Given the description of an element on the screen output the (x, y) to click on. 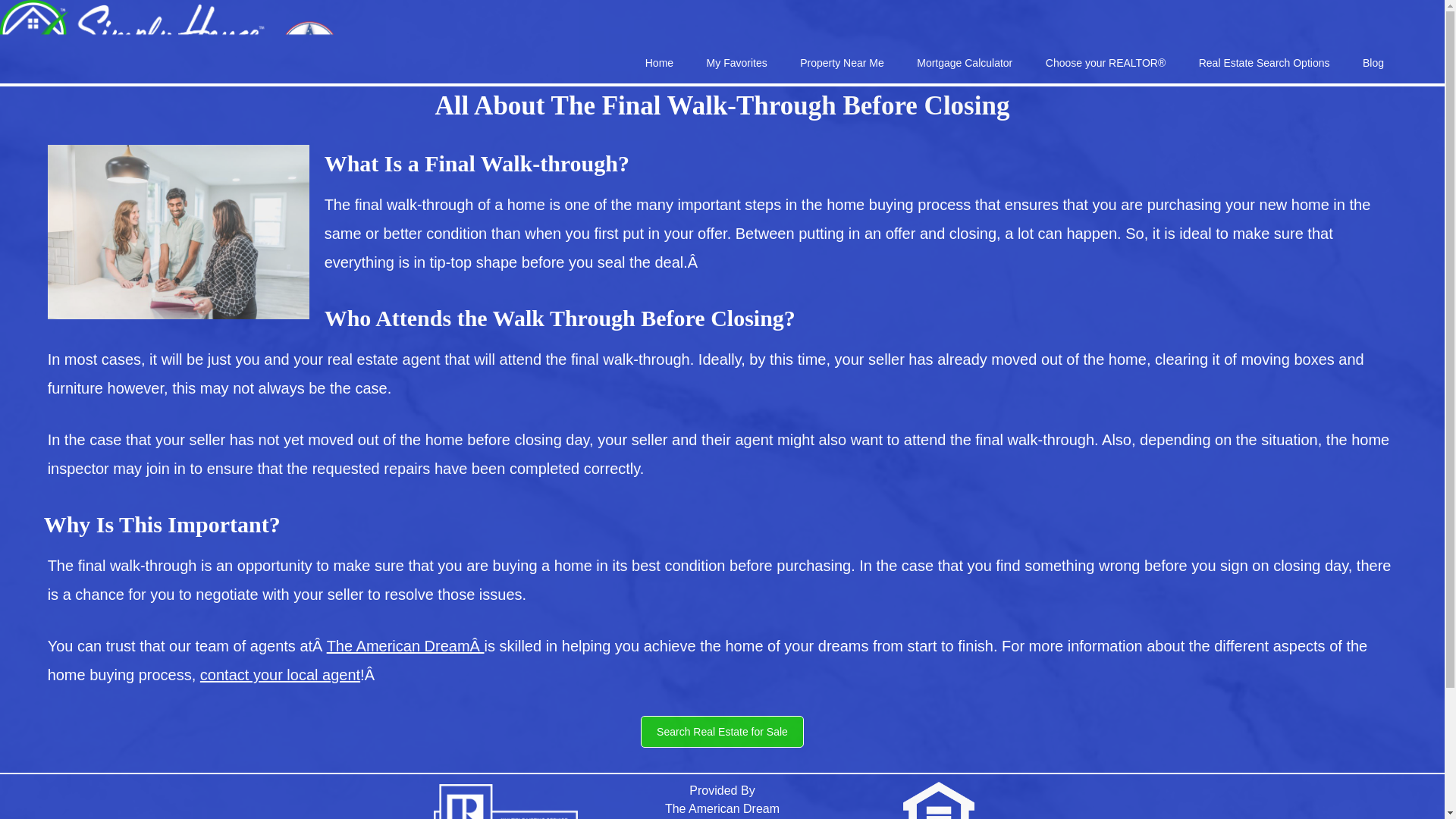
Blog (1373, 62)
Search (1264, 62)
contact your local agent (279, 674)
Home (659, 62)
Mortgage Calculator (964, 62)
My Favorites (737, 62)
Search Real Estate for Sale (721, 731)
Property Near Me (841, 62)
Real Estate Search Options (1264, 62)
